Given the description of an element on the screen output the (x, y) to click on. 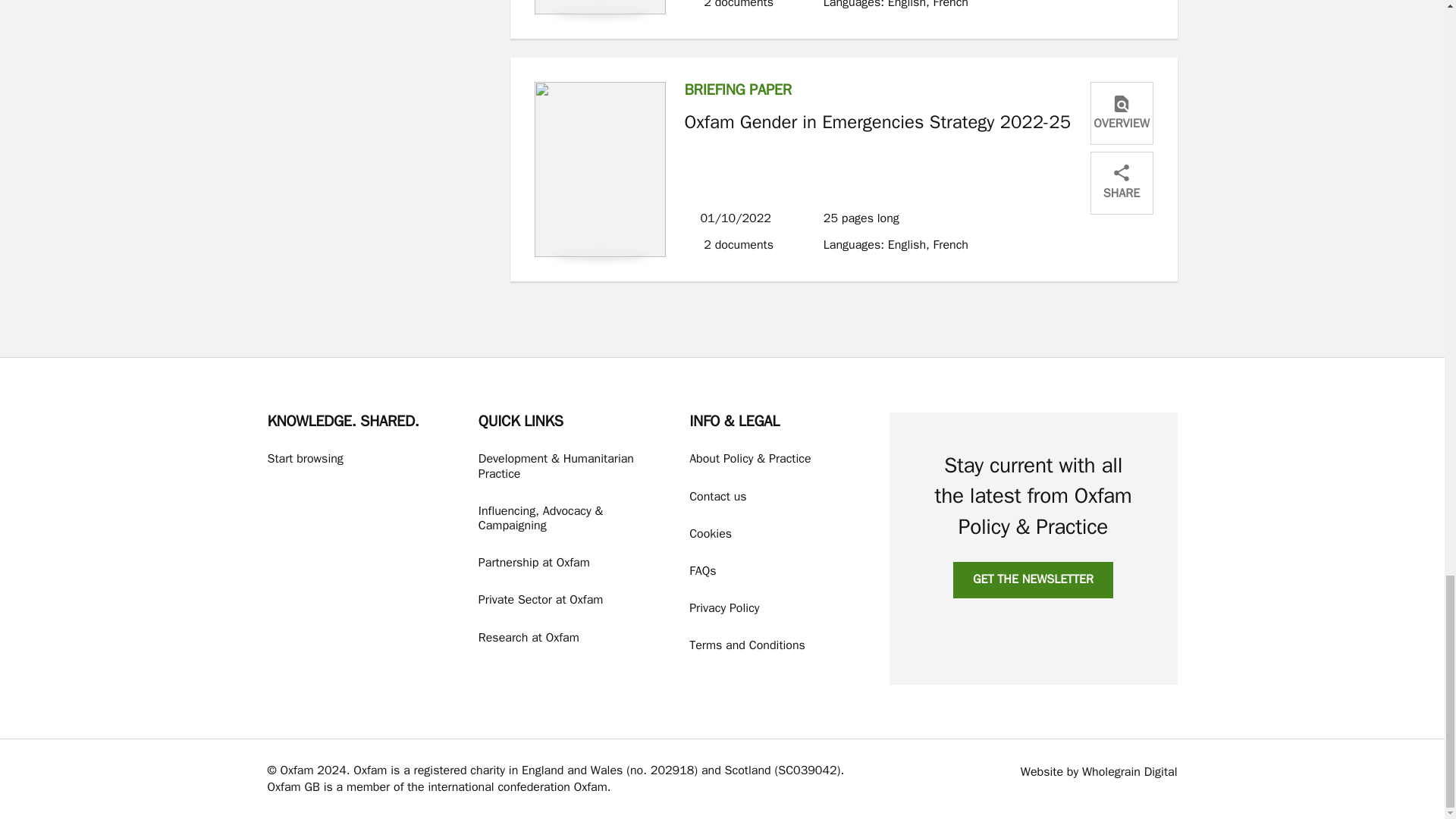
Get the newsletter (1032, 579)
